Given the description of an element on the screen output the (x, y) to click on. 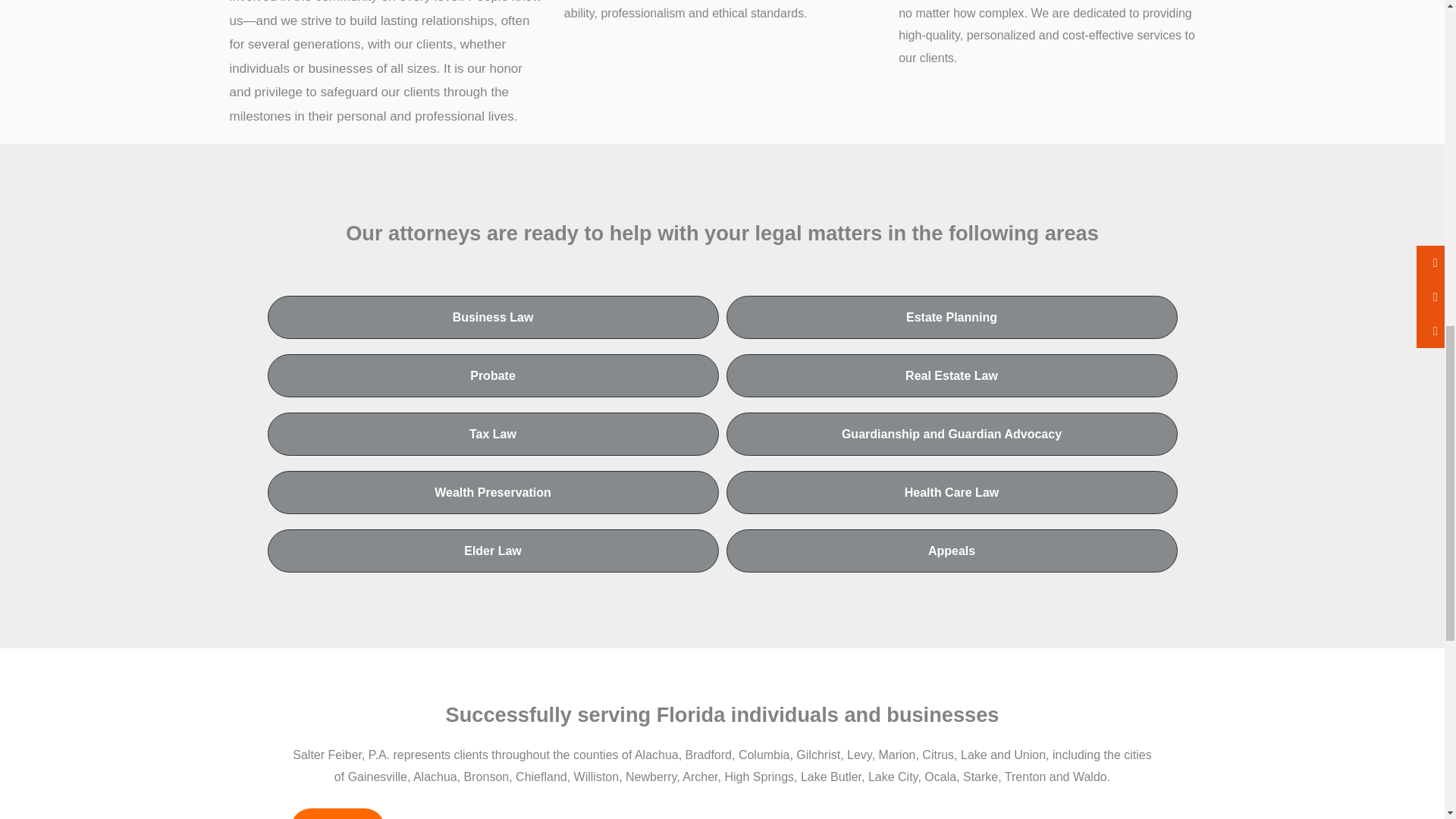
Business Law (491, 317)
Health Care Law (951, 492)
Estate Planning (951, 317)
Elder Law (491, 550)
Appeals (951, 550)
Wealth Preservation (491, 492)
Contact Us (337, 813)
Probate (491, 375)
Real Estate Law (951, 375)
Tax Law (491, 433)
